Given the description of an element on the screen output the (x, y) to click on. 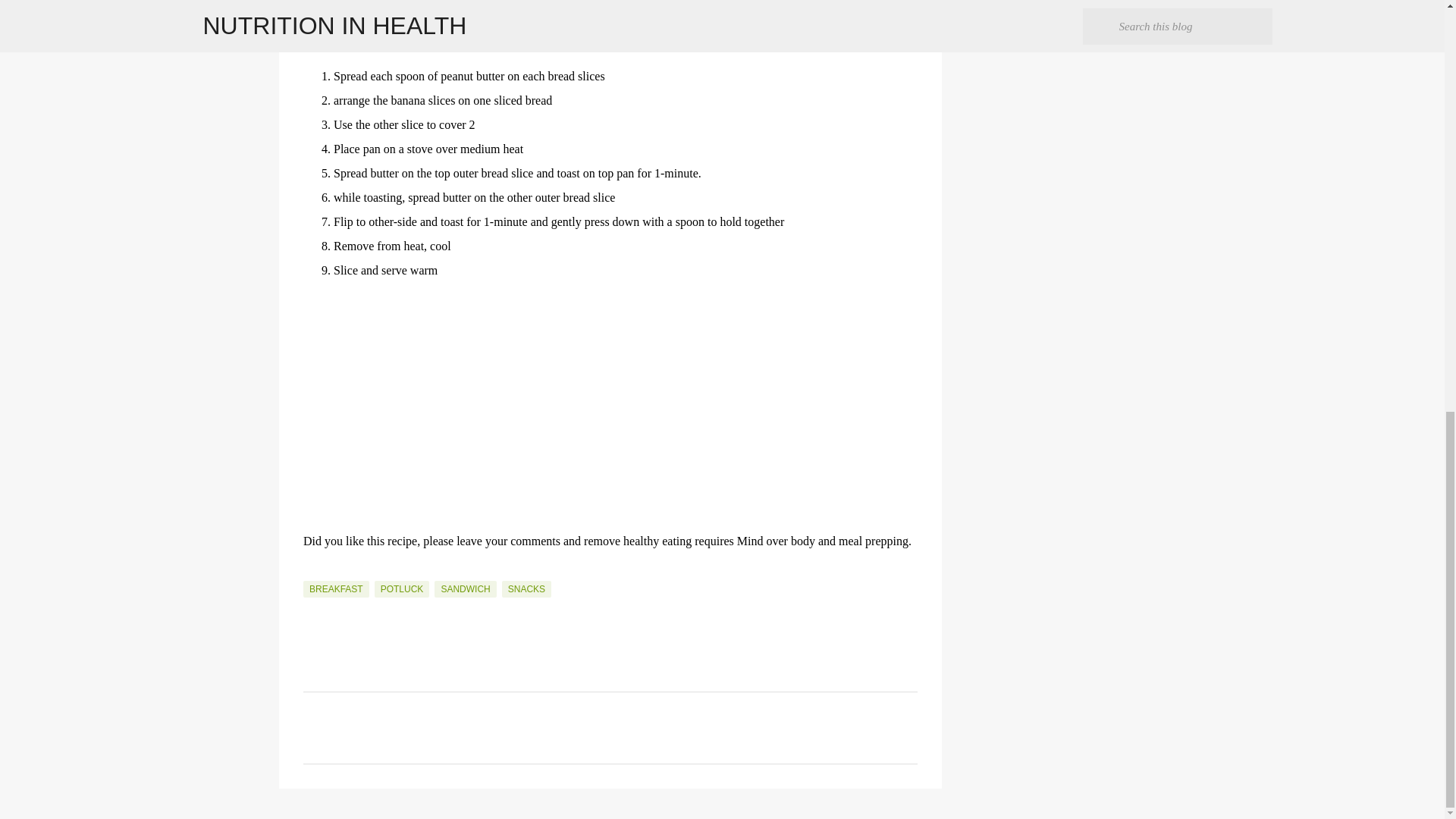
SANDWICH (464, 588)
POTLUCK (401, 588)
BREAKFAST (335, 588)
SNACKS (526, 588)
